Given the description of an element on the screen output the (x, y) to click on. 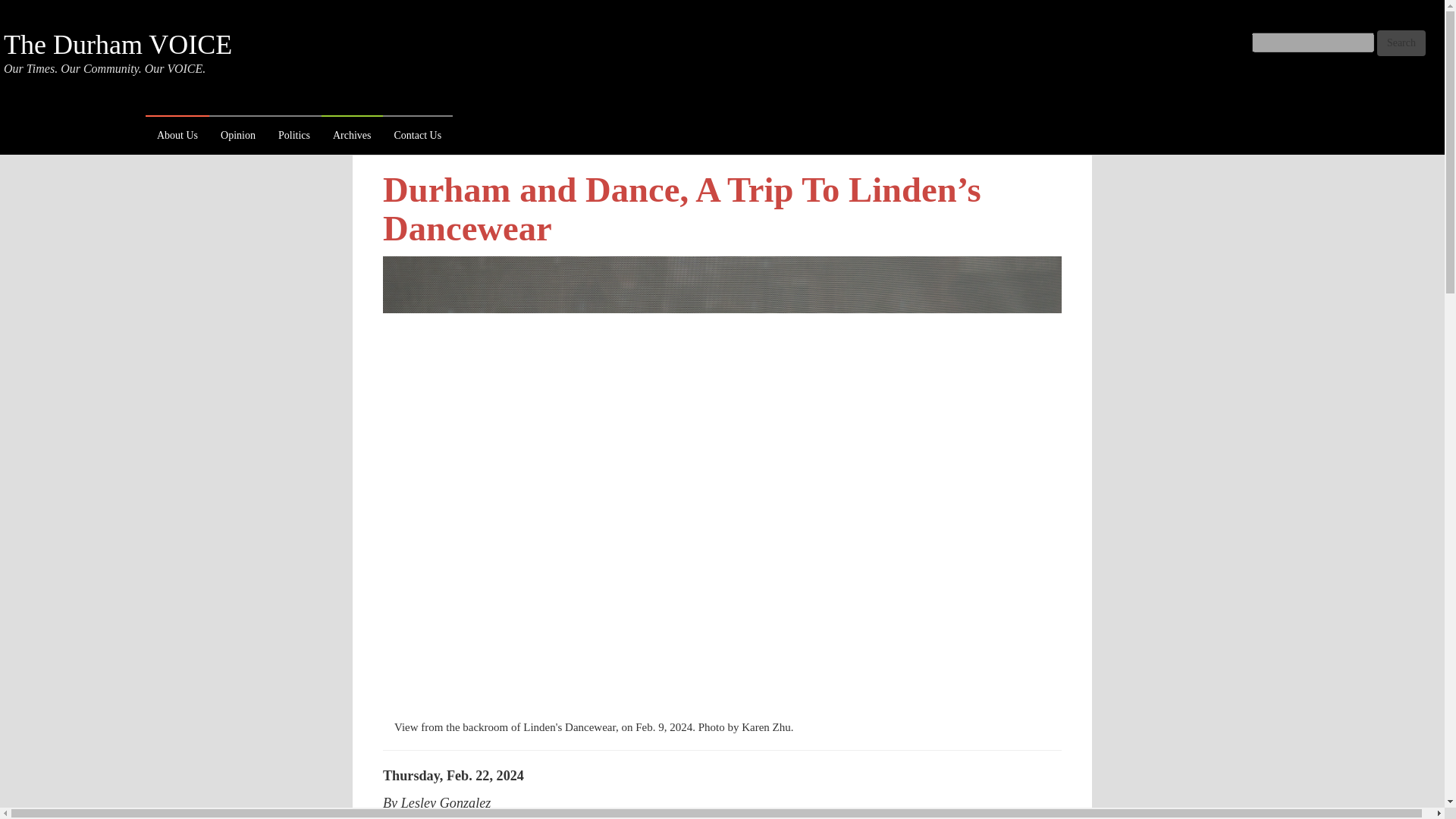
Opinion (237, 135)
Contact Us (417, 135)
Opinion (237, 135)
About Us (177, 135)
About Us (177, 135)
Politics (293, 135)
The Durham VOICE (117, 44)
The Durham VOICE (117, 44)
Search (1401, 43)
Politics (293, 135)
